Given the description of an element on the screen output the (x, y) to click on. 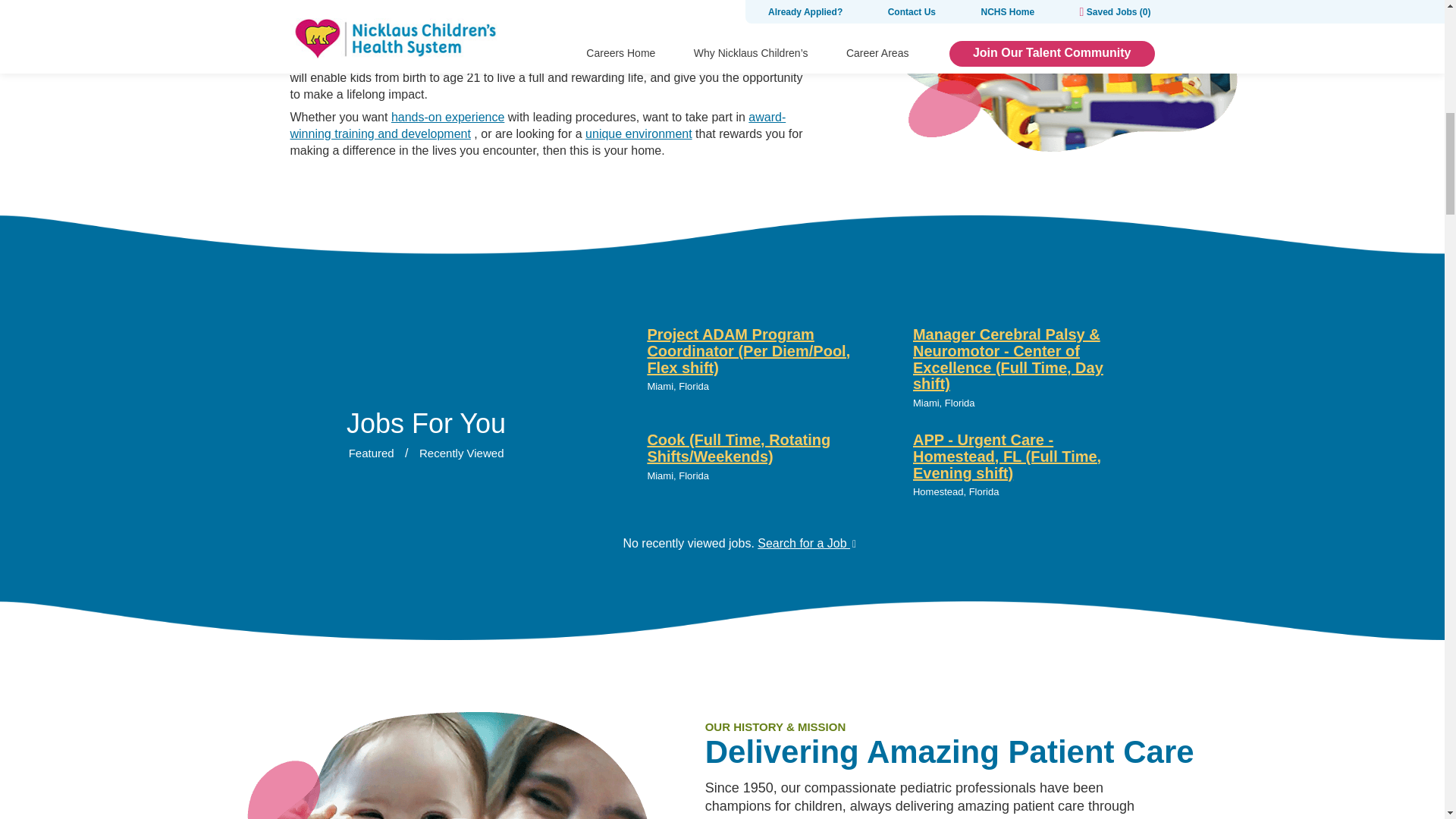
award-winning training and development (537, 125)
Featured (371, 453)
hands-on experience (447, 116)
Recently Viewed (460, 453)
virtual technology (517, 35)
Search for a Job (806, 543)
unique environment (639, 133)
